Given the description of an element on the screen output the (x, y) to click on. 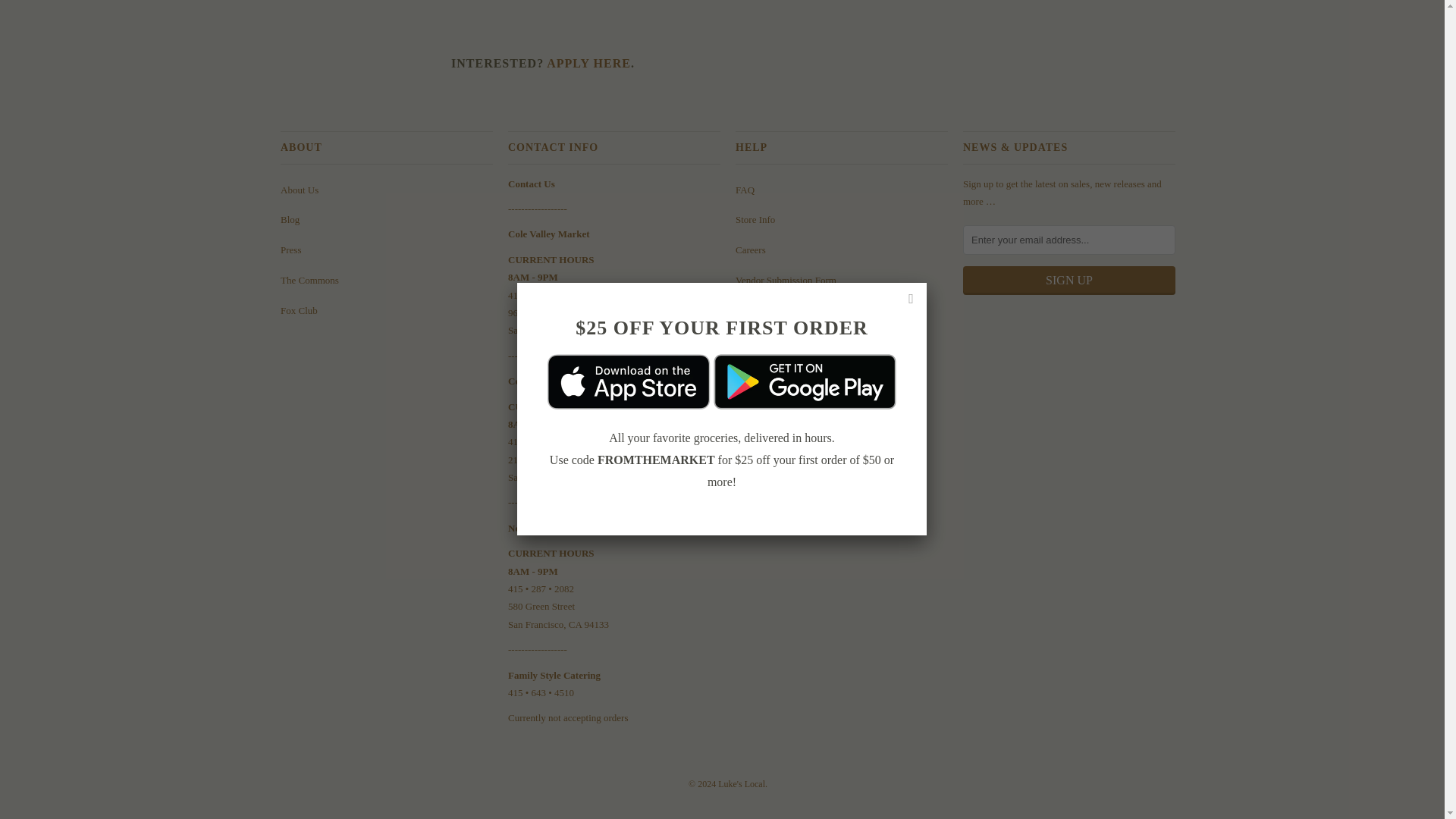
Sign Up (1068, 280)
